Given the description of an element on the screen output the (x, y) to click on. 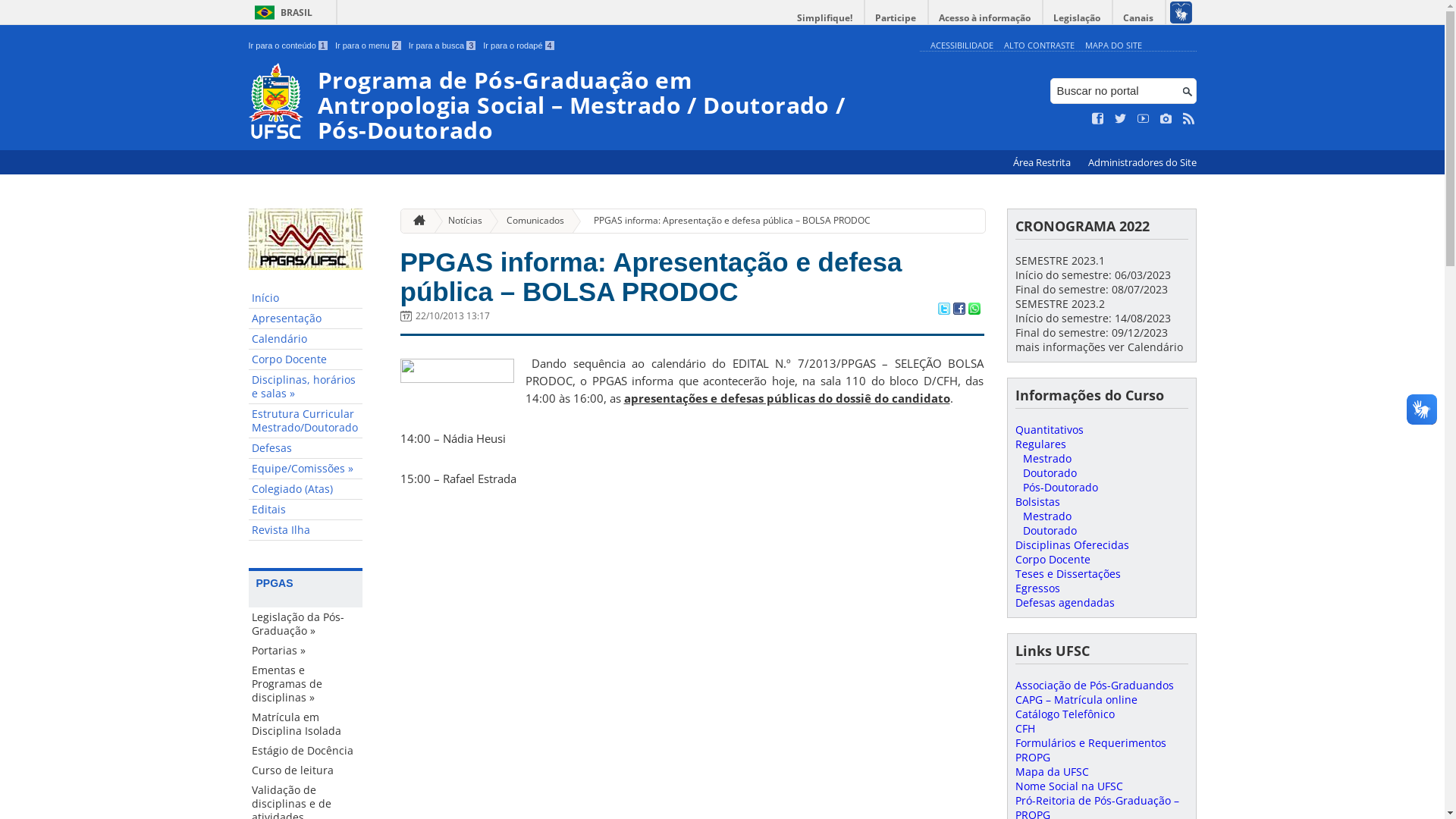
ALTO CONTRASTE Element type: text (1039, 44)
Participe Element type: text (895, 18)
Defesas Element type: text (305, 448)
Siga no Twitter Element type: hover (1120, 118)
Revista Ilha Element type: text (305, 530)
Bolsistas Element type: text (1036, 501)
Quantitativos Element type: text (1048, 429)
Comunicados Element type: text (529, 220)
Corpo Docente Element type: text (1051, 559)
Compartilhar no Facebook Element type: hover (958, 309)
Estrutura Curricular Mestrado/Doutorado Element type: text (305, 421)
Simplifique! Element type: text (825, 18)
Ir para o menu 2 Element type: text (368, 45)
Corpo Docente Element type: text (305, 359)
Curso de leitura Element type: text (305, 770)
Doutorado Element type: text (1049, 472)
Mapa da UFSC Element type: text (1051, 771)
MAPA DO SITE Element type: text (1112, 44)
Compartilhar no Twitter Element type: hover (943, 309)
Nome Social na UFSC Element type: text (1068, 785)
Mestrado Element type: text (1046, 458)
Curta no Facebook Element type: hover (1098, 118)
Editais Element type: text (305, 509)
CFH Element type: text (1024, 728)
Defesas agendadas Element type: text (1063, 602)
ACESSIBILIDADE Element type: text (960, 44)
Veja no Instagram Element type: hover (1166, 118)
Ir para a busca 3 Element type: text (442, 45)
Mestrado Element type: text (1046, 515)
Egressos Element type: text (1036, 587)
Disciplinas Oferecidas Element type: text (1071, 544)
Regulares Element type: text (1039, 443)
Colegiado (Atas) Element type: text (305, 489)
Compartilhar no WhatsApp Element type: hover (973, 309)
Canais Element type: text (1138, 18)
BRASIL Element type: text (280, 12)
Doutorado Element type: text (1049, 530)
Administradores do Site Element type: text (1141, 162)
